Given the description of an element on the screen output the (x, y) to click on. 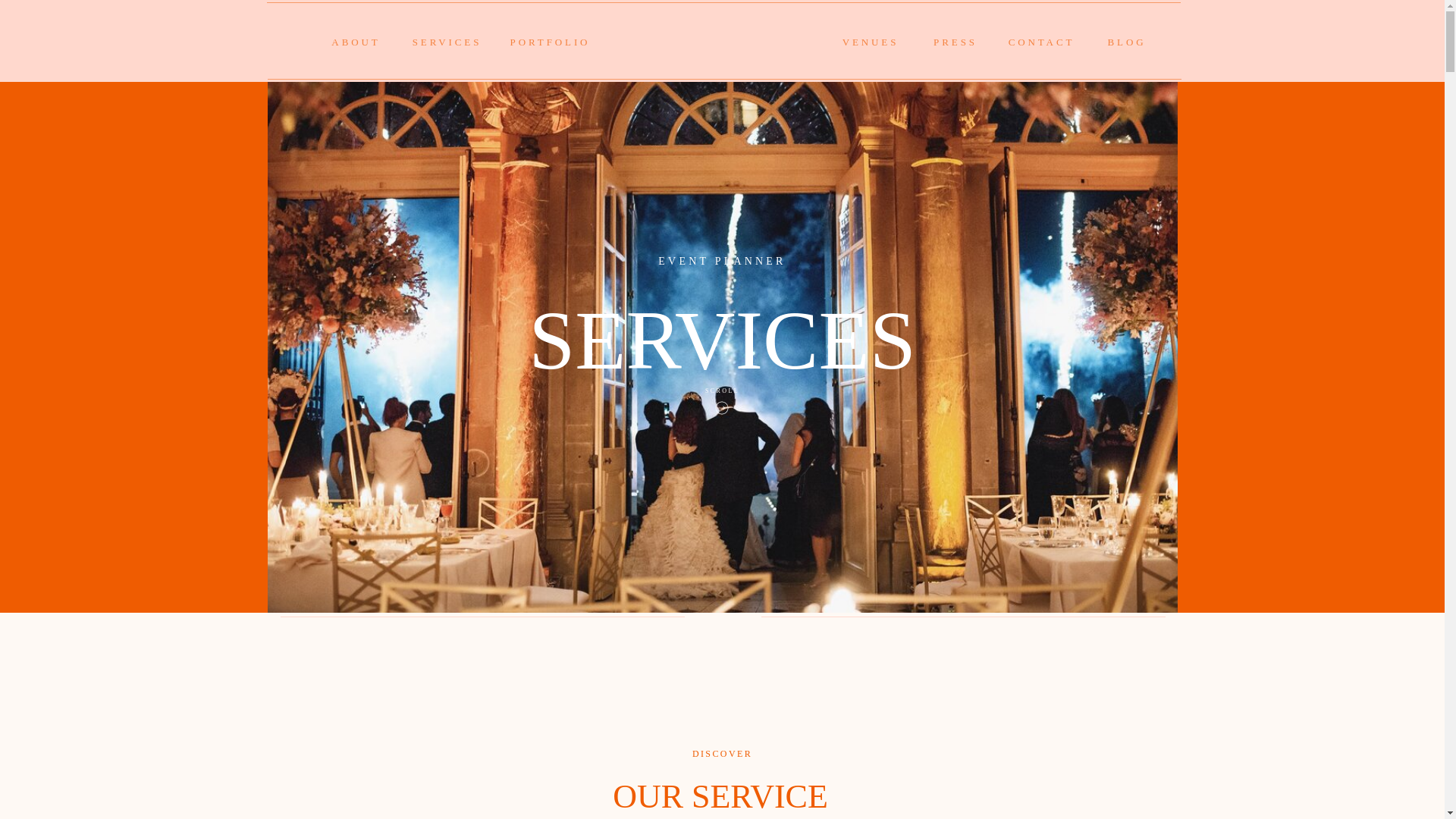
SERVICES (447, 43)
CONTACT (1042, 43)
EVENT PLANNER (722, 258)
PRESS (954, 43)
BLOG (1126, 43)
PORTFOLIO (549, 43)
ABOUT (355, 43)
VENUES (869, 43)
SCROLL (722, 392)
